Given the description of an element on the screen output the (x, y) to click on. 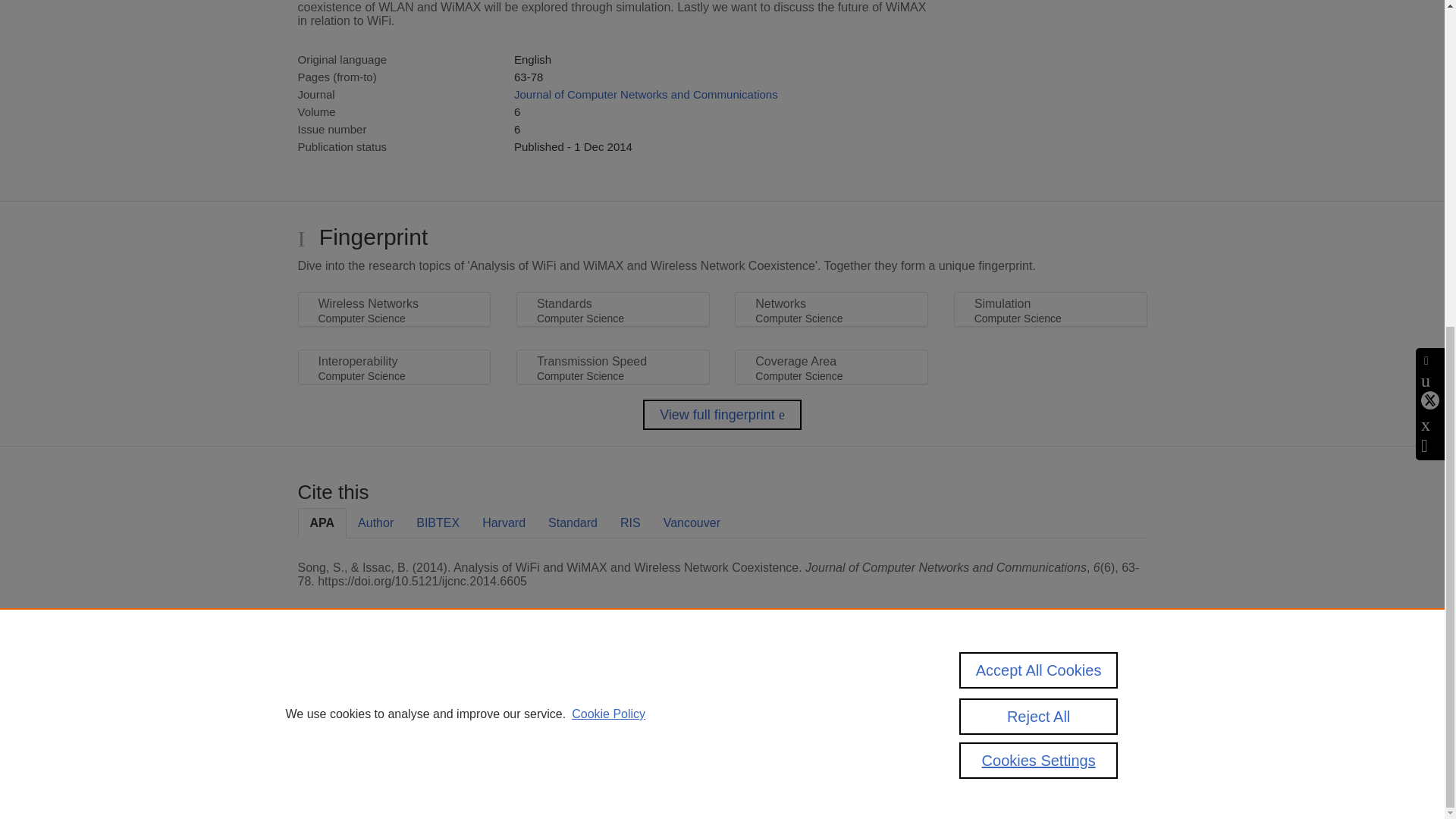
Pure (362, 686)
Scopus (394, 686)
View full fingerprint (722, 414)
Cookies Settings (334, 760)
Log in to Pure (327, 781)
Journal of Computer Networks and Communications (645, 93)
Elsevier B.V. (506, 707)
use of cookies (796, 739)
